Given the description of an element on the screen output the (x, y) to click on. 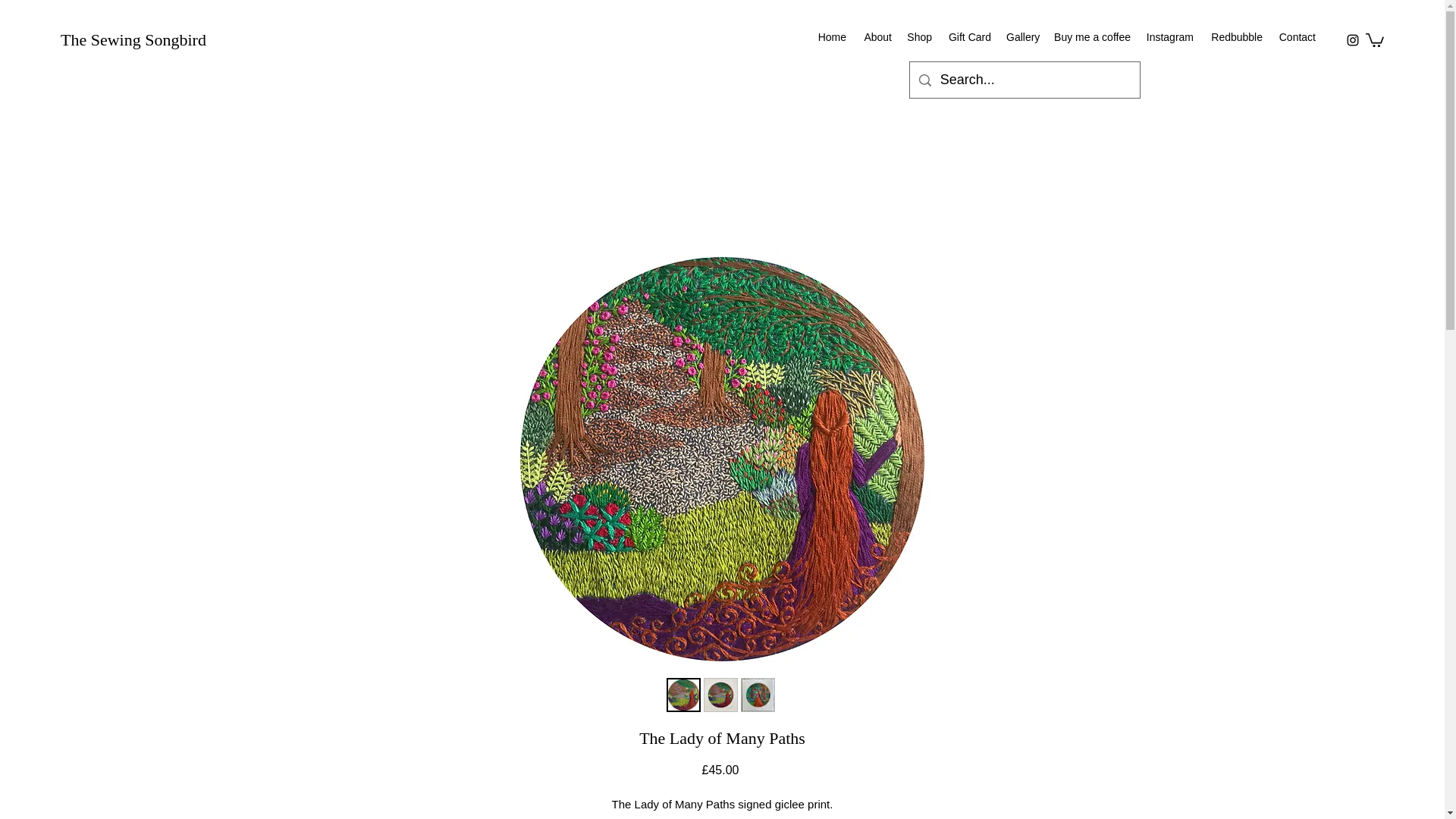
About (876, 36)
Contact (1296, 36)
Gift Card (968, 36)
Gallery (1022, 36)
Shop (919, 36)
Redbubble (1235, 36)
Buy me a coffee (1092, 36)
The Sewing Songbird (133, 39)
Instagram (1169, 36)
Home (831, 36)
